Given the description of an element on the screen output the (x, y) to click on. 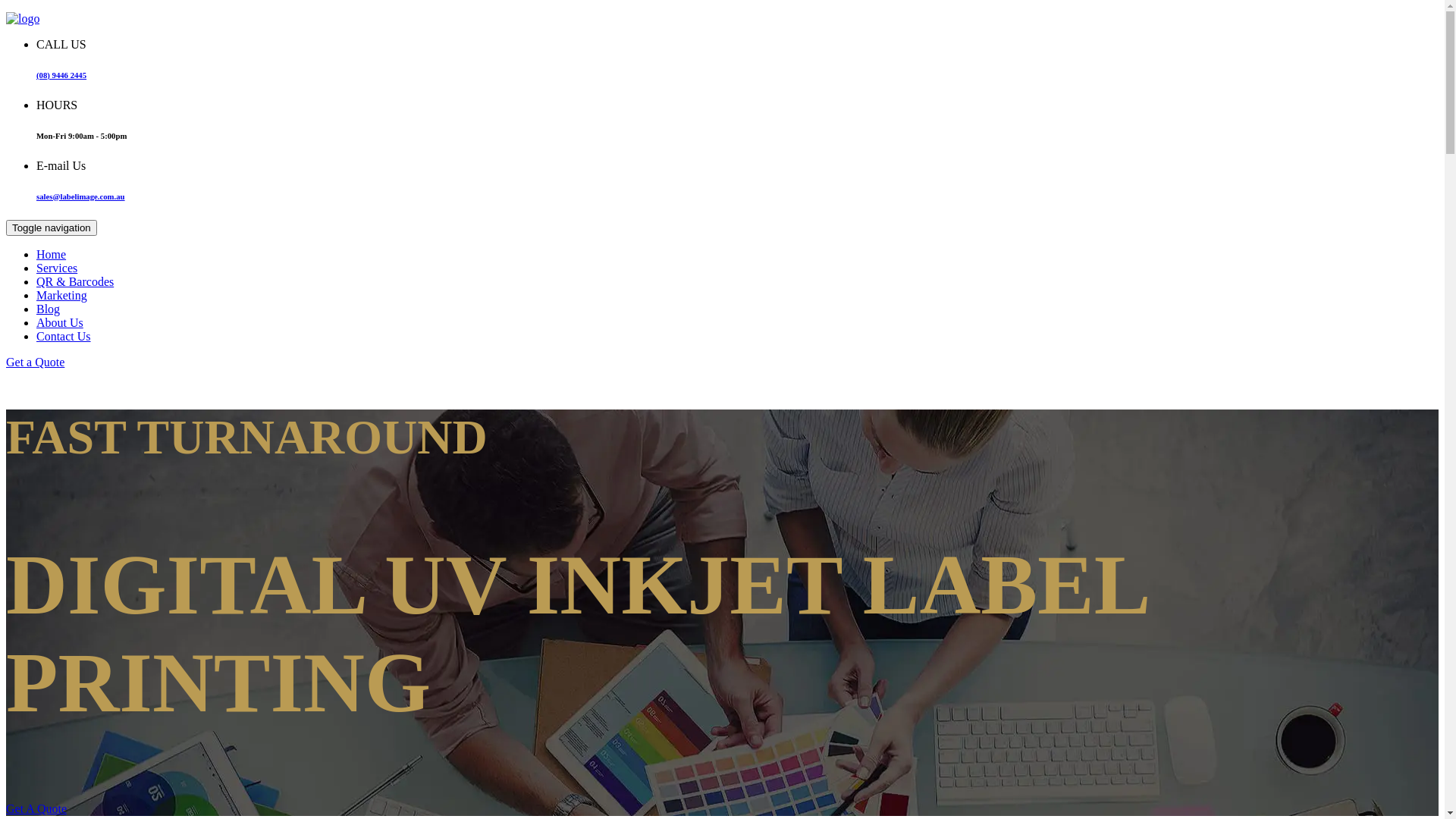
Get a Quote Element type: text (35, 361)
Contact Us Element type: text (63, 335)
Label Image Element type: hover (22, 18)
Toggle navigation Element type: text (51, 227)
Marketing Element type: text (61, 294)
sales@labelimage.com.au Element type: text (80, 195)
(08) 9446 2445 Element type: text (61, 74)
Get A Quote Element type: text (36, 808)
Home Element type: text (50, 253)
Services Element type: text (56, 267)
Blog Element type: text (47, 308)
About Us Element type: text (59, 322)
QR & Barcodes Element type: text (74, 281)
